Given the description of an element on the screen output the (x, y) to click on. 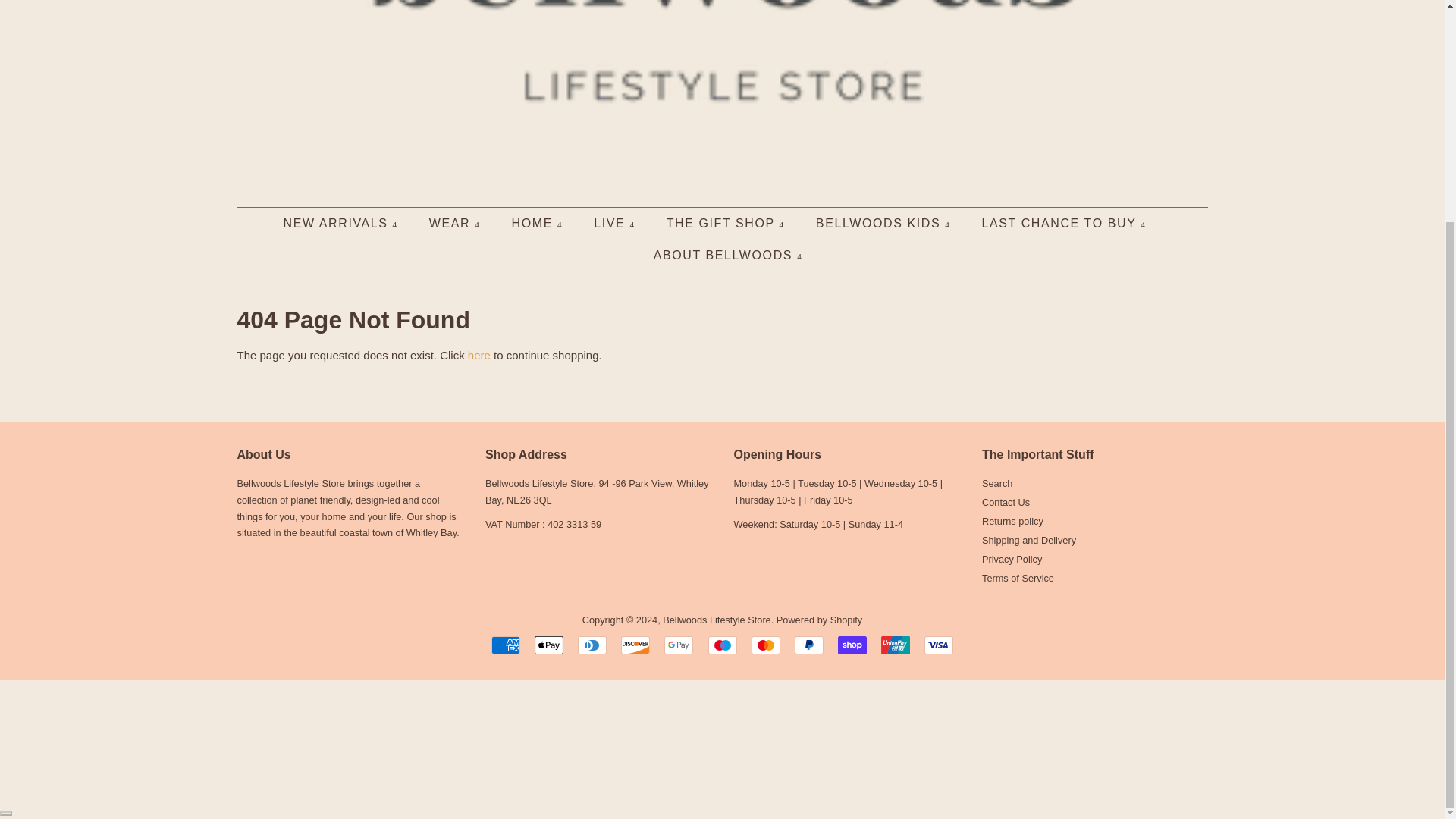
Apple Pay (548, 645)
Discover (635, 645)
PayPal (809, 645)
Mastercard (765, 645)
Diners Club (592, 645)
Visa (938, 645)
Shop Pay (852, 645)
Google Pay (678, 645)
Union Pay (895, 645)
American Express (505, 645)
